Given the description of an element on the screen output the (x, y) to click on. 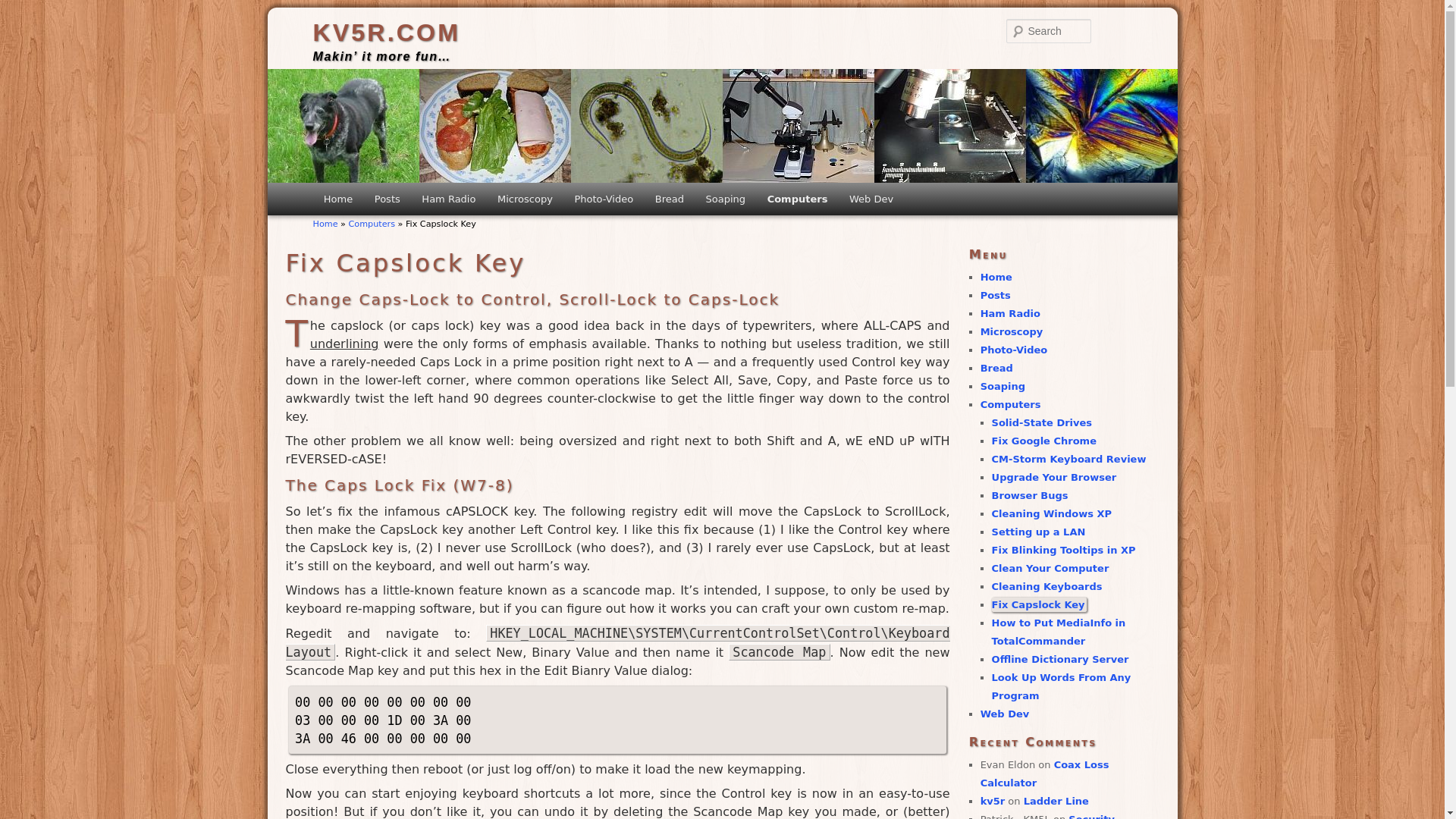
Ham Radio (448, 198)
Search (21, 7)
Skip to primary content (397, 202)
Skip to primary content (397, 202)
Posts (386, 198)
Home (337, 198)
Skip to secondary content (405, 202)
Skip to secondary content (405, 202)
KV5R.COM (386, 31)
KV5R.COM (386, 31)
